Given the description of an element on the screen output the (x, y) to click on. 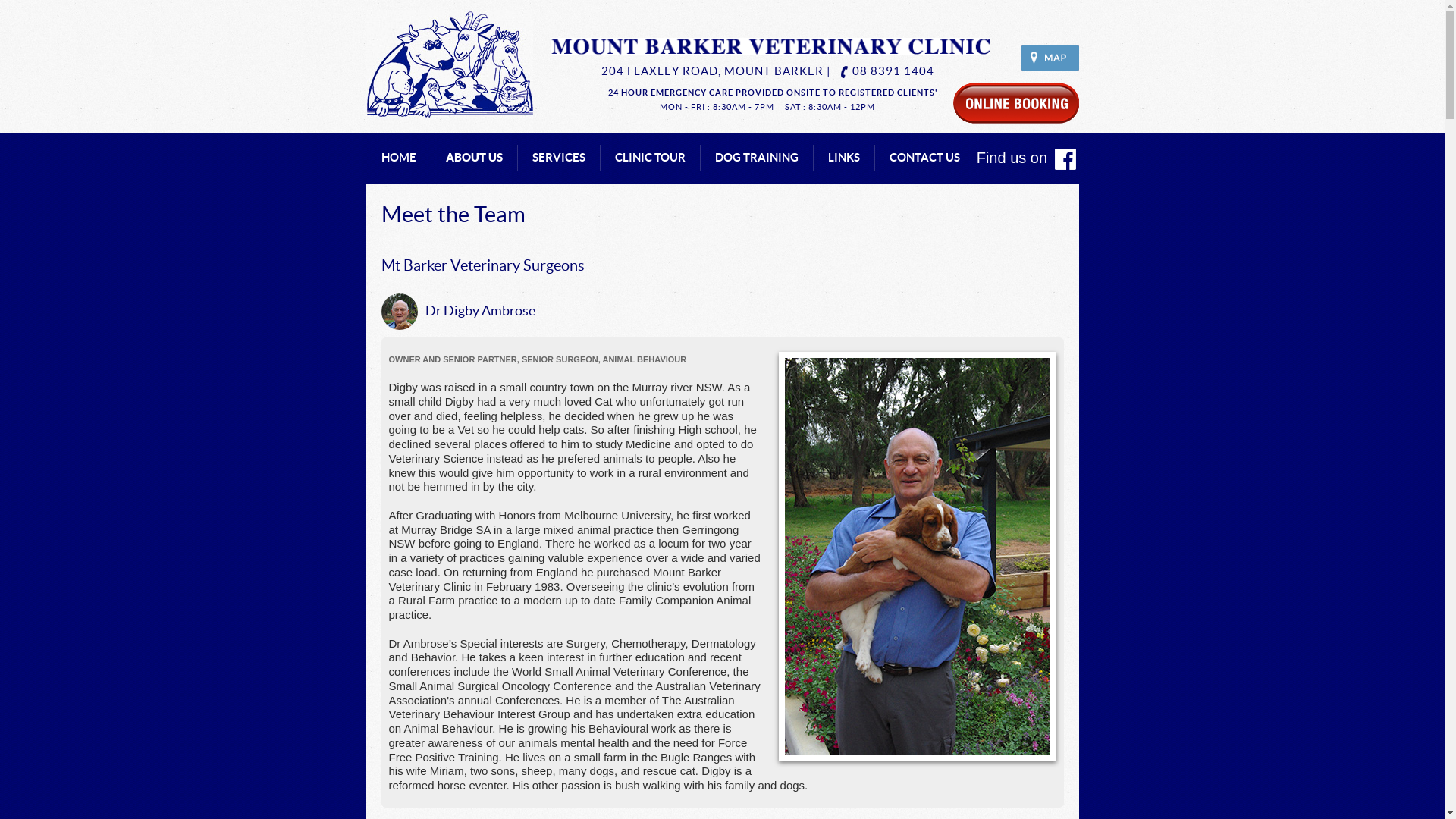
ABOUT US Element type: text (473, 157)
CLINIC TOUR Element type: text (649, 157)
HOME Element type: text (397, 157)
Find us on Element type: text (1026, 158)
DOG TRAINING Element type: text (755, 157)
CONTACT US Element type: text (923, 157)
LINKS Element type: text (843, 157)
SERVICES Element type: text (558, 157)
